Given the description of an element on the screen output the (x, y) to click on. 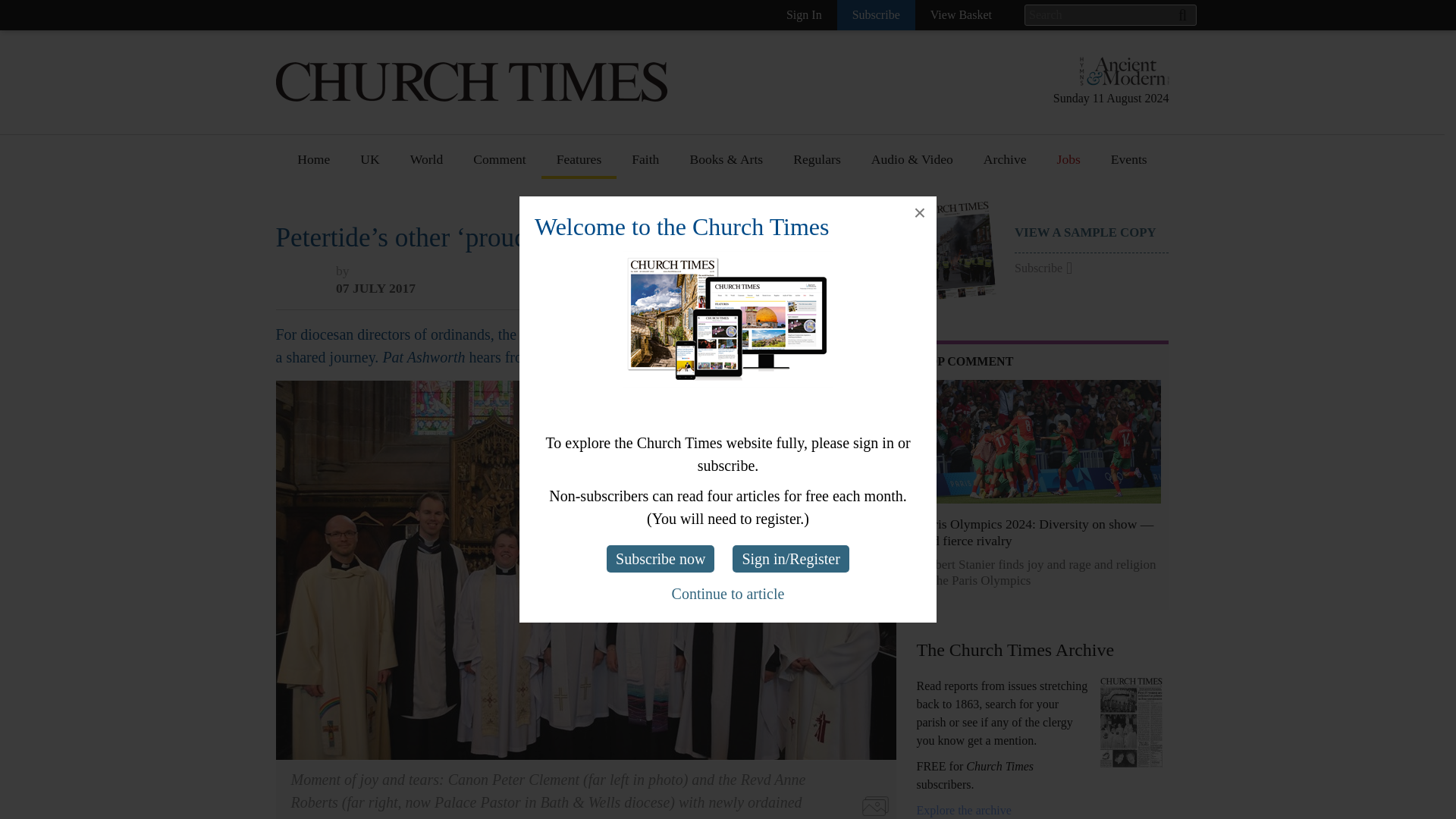
Book reviews (726, 204)
Home (313, 164)
Week ahead (721, 456)
Film (702, 371)
Interviews (585, 232)
Archive (962, 809)
Book club (717, 260)
Features (580, 204)
Subscribe (876, 15)
Continue to article (727, 593)
